Given the description of an element on the screen output the (x, y) to click on. 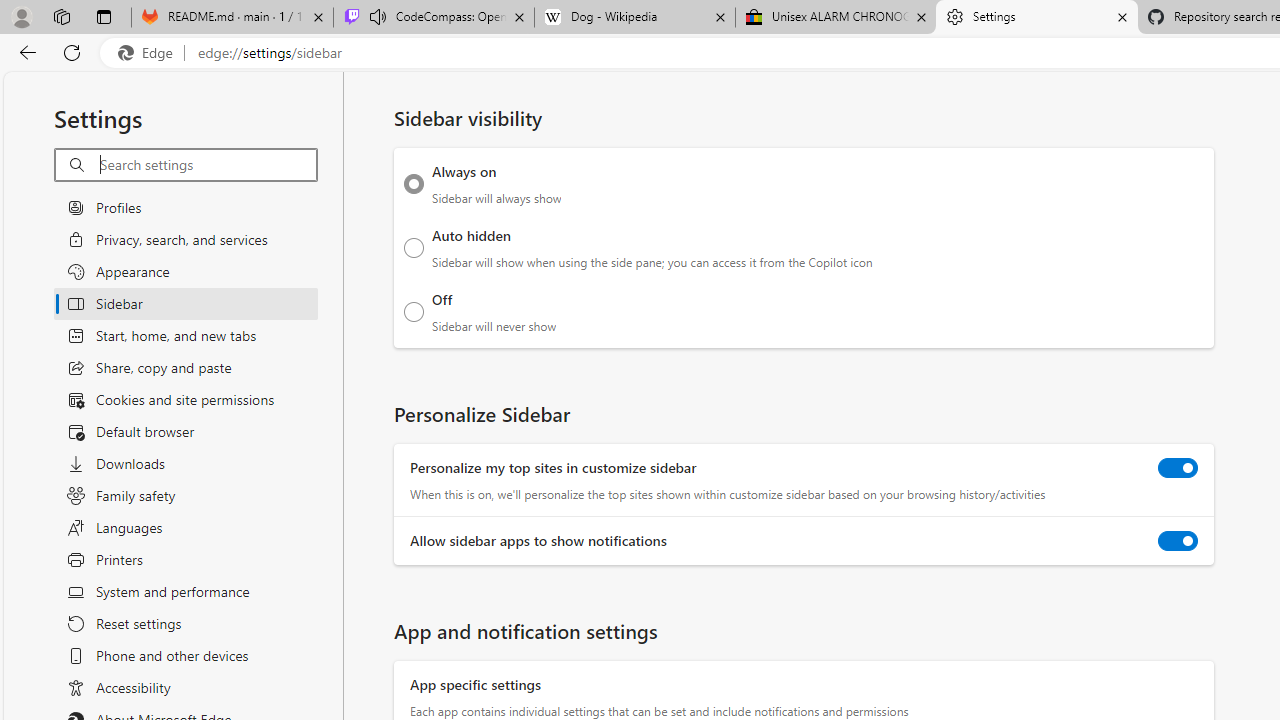
Workspaces (61, 16)
